Given the description of an element on the screen output the (x, y) to click on. 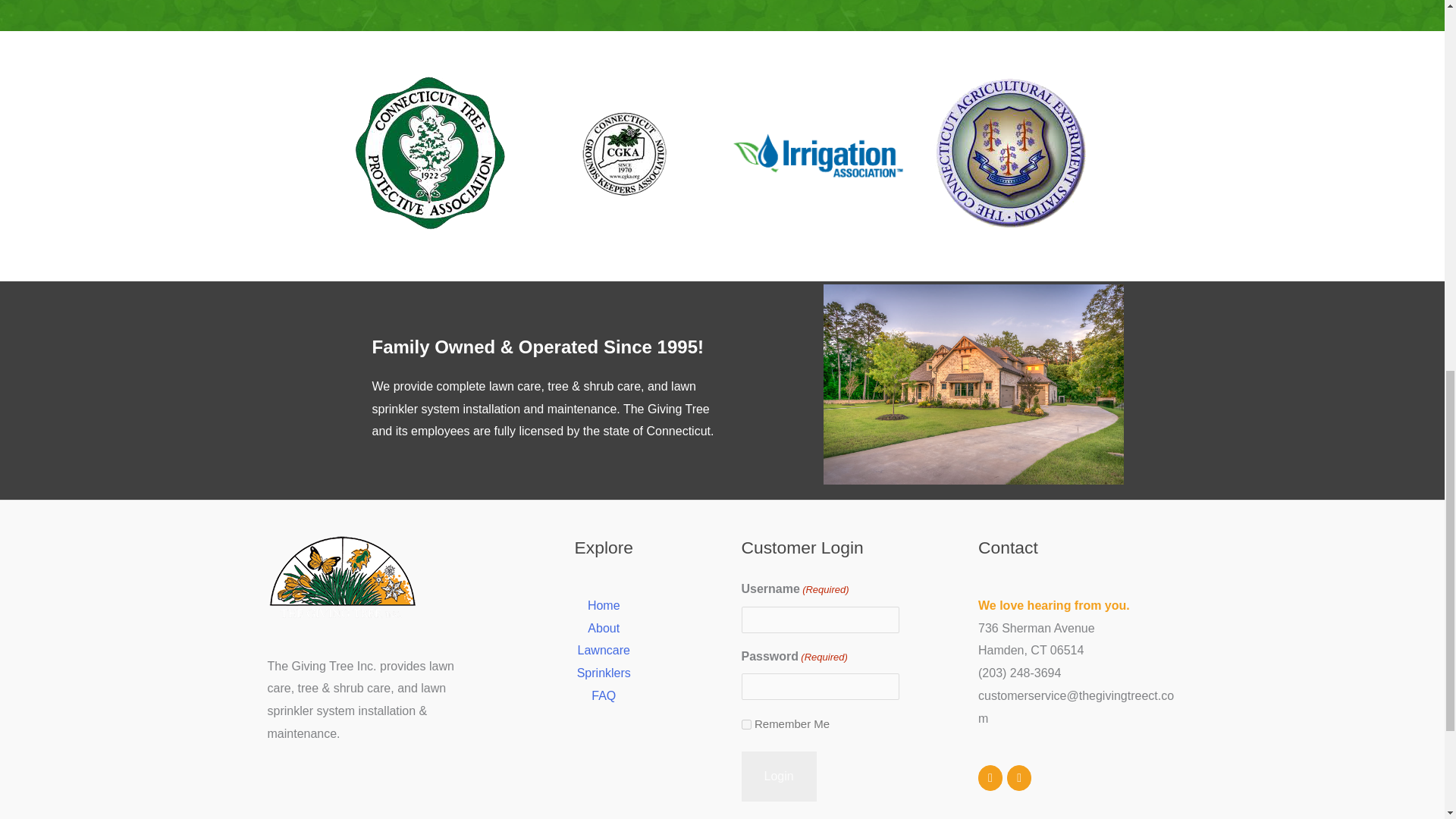
The Giving Tree Inc. on Facebook (990, 777)
Login (778, 776)
1 (746, 724)
The Giving Tree Inc. on Instagram (1018, 777)
about page house (974, 384)
